Given the description of an element on the screen output the (x, y) to click on. 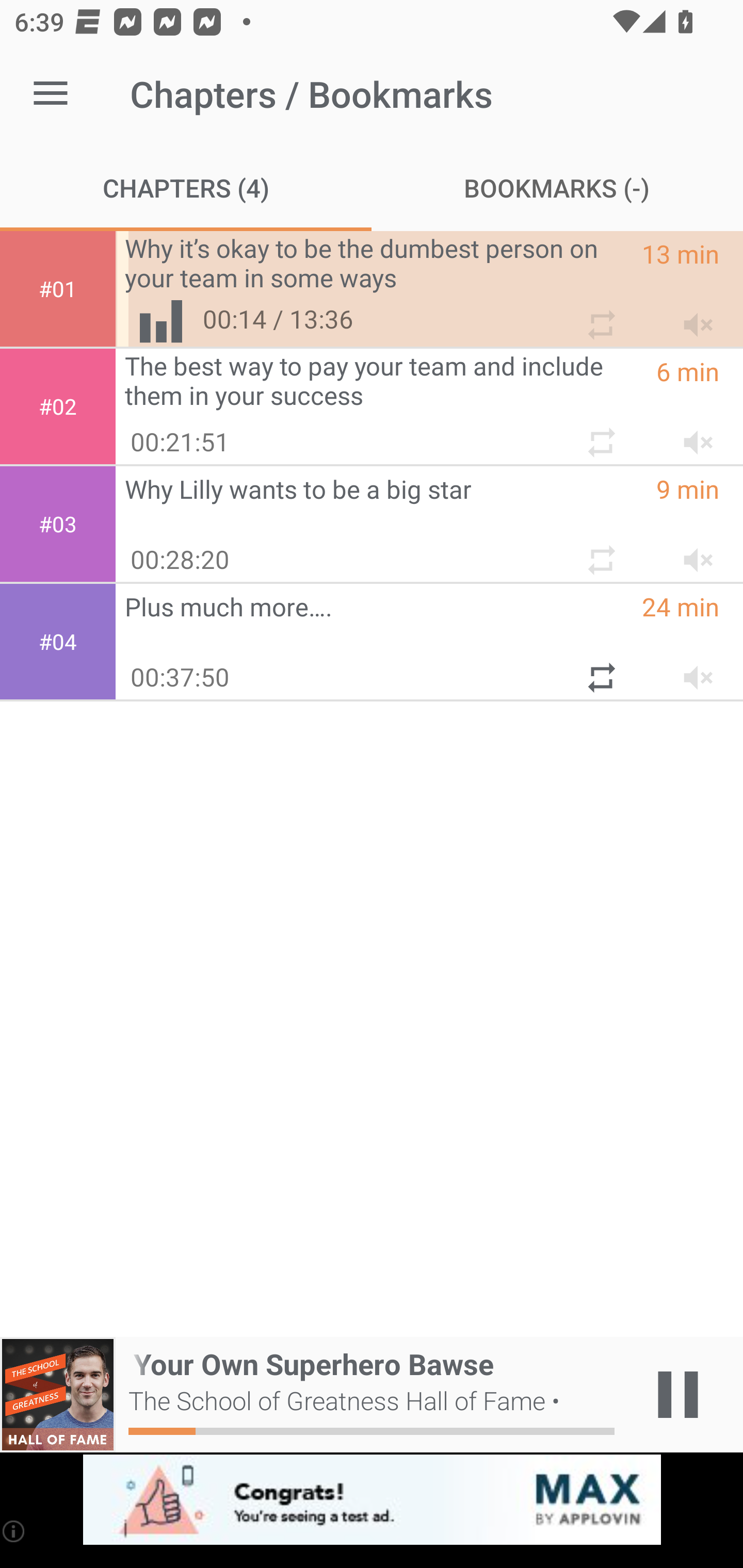
Open navigation sidebar (50, 93)
Bookmarks (-) BOOKMARKS (-) (557, 187)
Repeat chapter (599, 317)
Mute chapter (692, 317)
Repeat chapter (599, 435)
Mute chapter (692, 435)
Repeat chapter (599, 552)
Mute chapter (692, 552)
Repeat chapter (599, 670)
Mute chapter (692, 670)
Play / Pause (677, 1394)
app-monetization (371, 1500)
(i) (14, 1531)
